Given the description of an element on the screen output the (x, y) to click on. 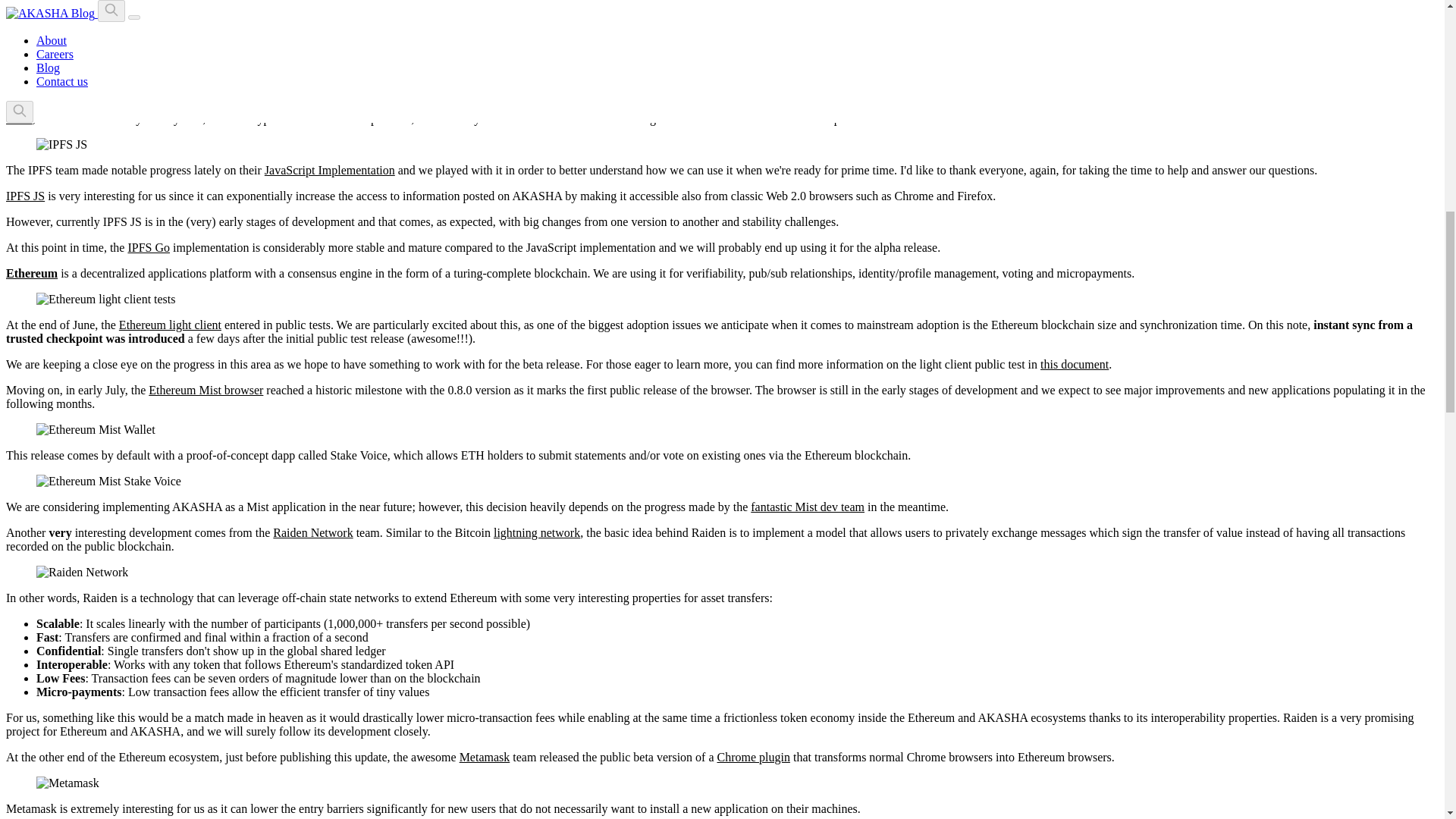
IPFS (18, 118)
Chrome plugin (753, 757)
fantastic Mist dev team (807, 506)
IPFS JS (25, 195)
IPFS connector repository (68, 33)
npm package (68, 0)
Ethereum Mist browser (205, 390)
this document (1074, 364)
Go IPFS implementation (623, 20)
Raiden Network (312, 532)
IPFS Go (149, 246)
Metamask (485, 757)
lightning network (536, 532)
Ethereum (31, 273)
JS IPFS API (427, 20)
